Given the description of an element on the screen output the (x, y) to click on. 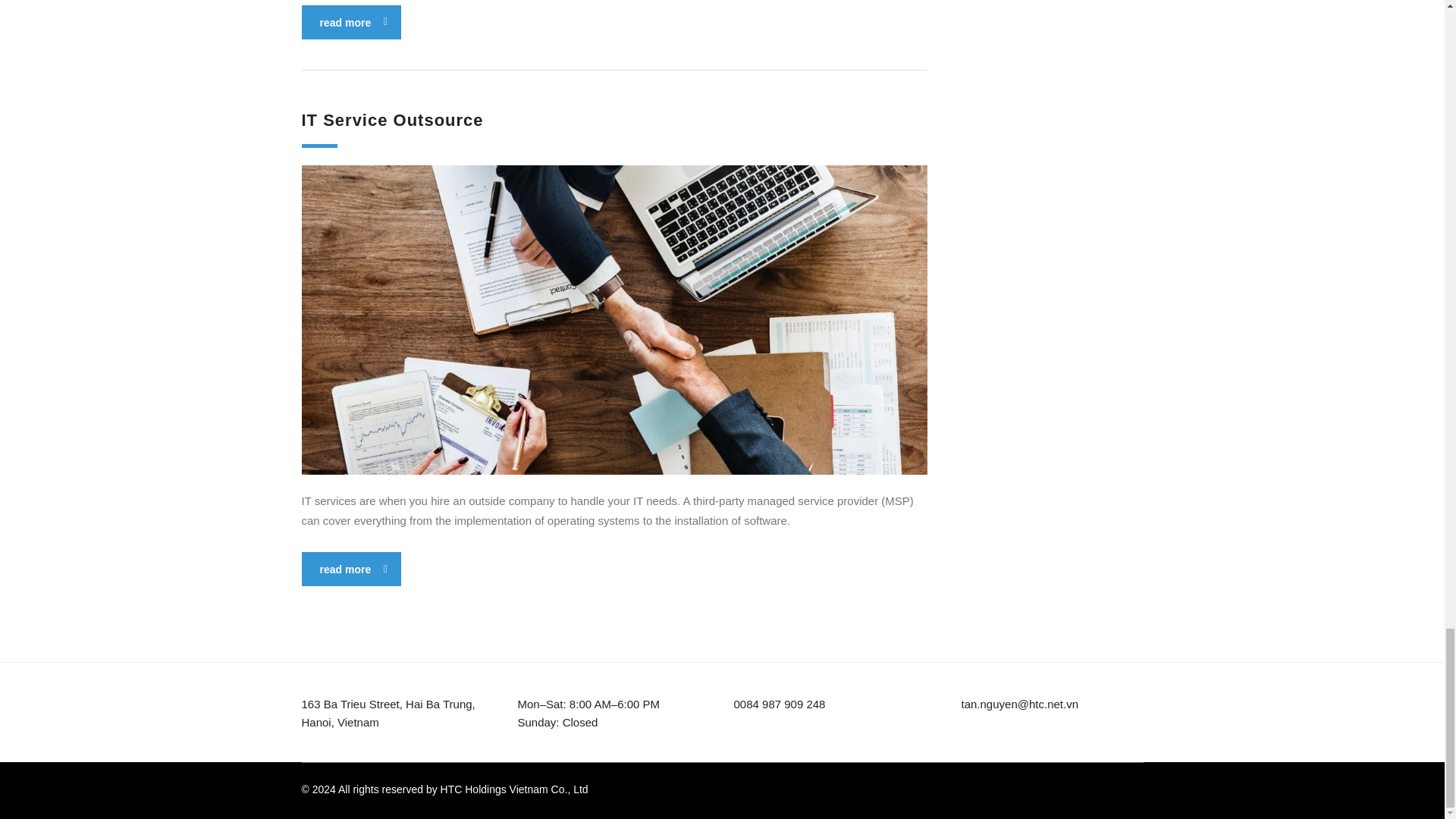
read more (351, 21)
read more (351, 569)
